Given the description of an element on the screen output the (x, y) to click on. 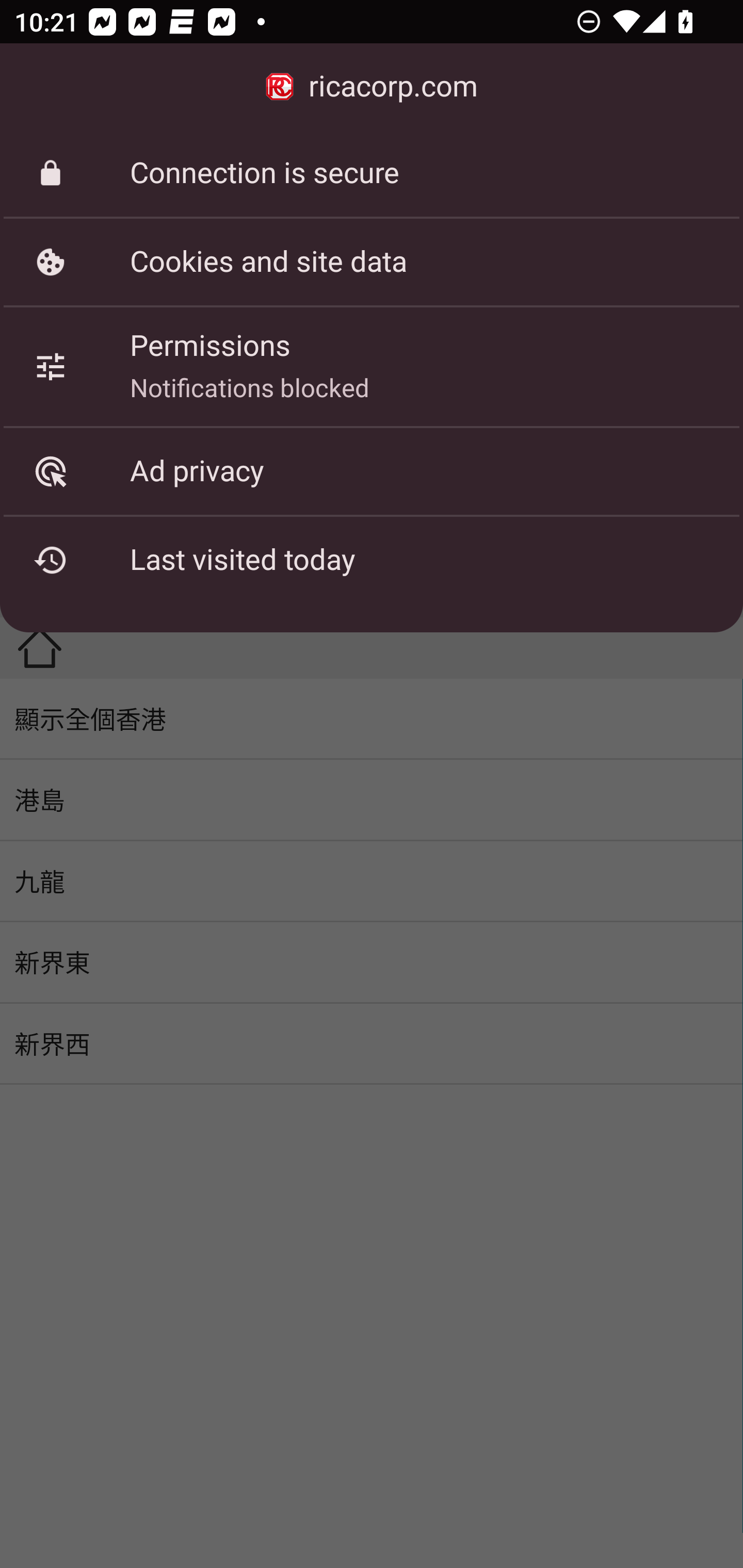
ricacorp.com (371, 86)
Connection is secure (371, 173)
Cookies and site data (371, 261)
Permissions Notifications blocked (371, 366)
Ad privacy (371, 471)
Last visited today (371, 560)
